Given the description of an element on the screen output the (x, y) to click on. 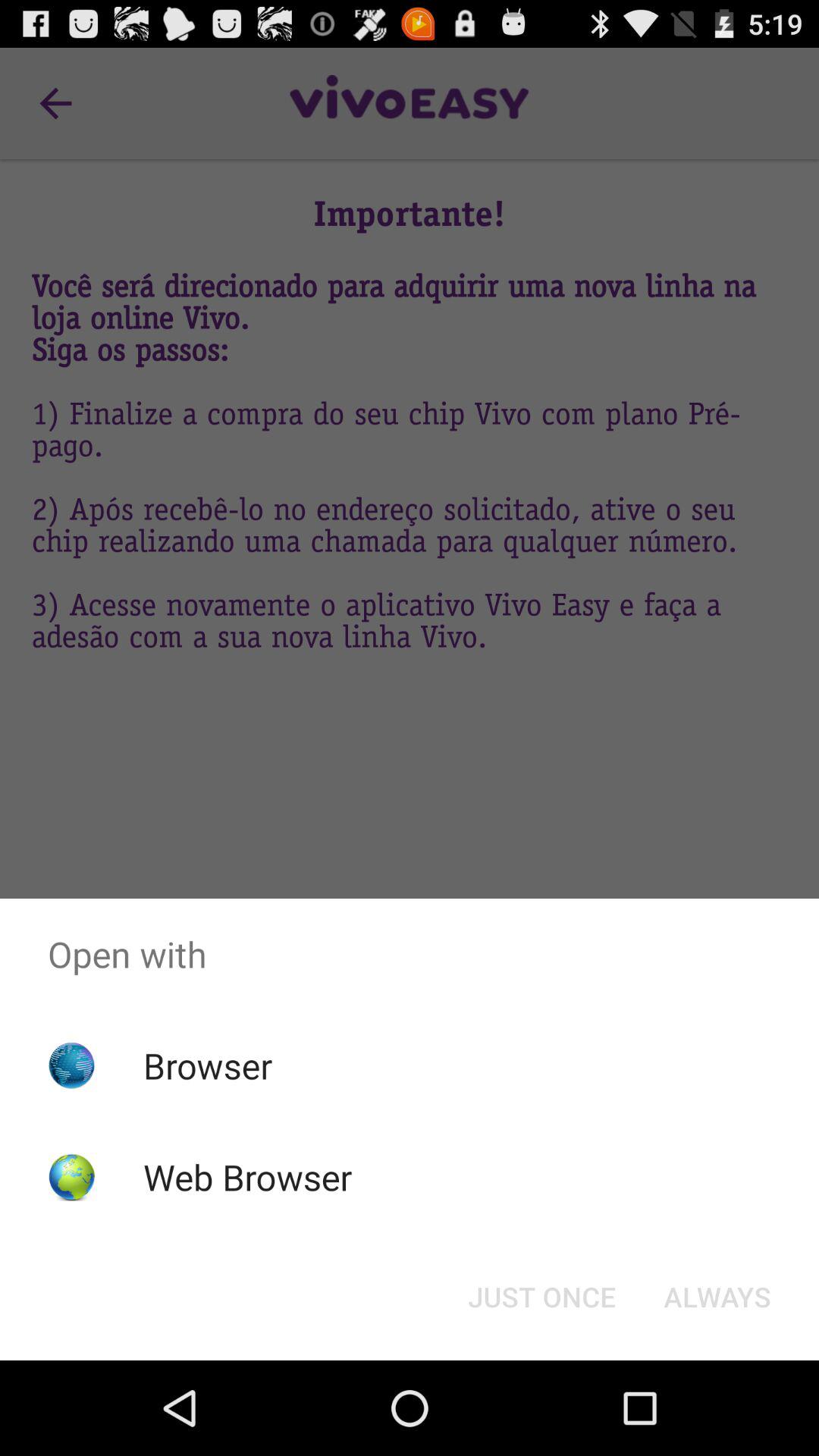
choose web browser icon (247, 1176)
